Given the description of an element on the screen output the (x, y) to click on. 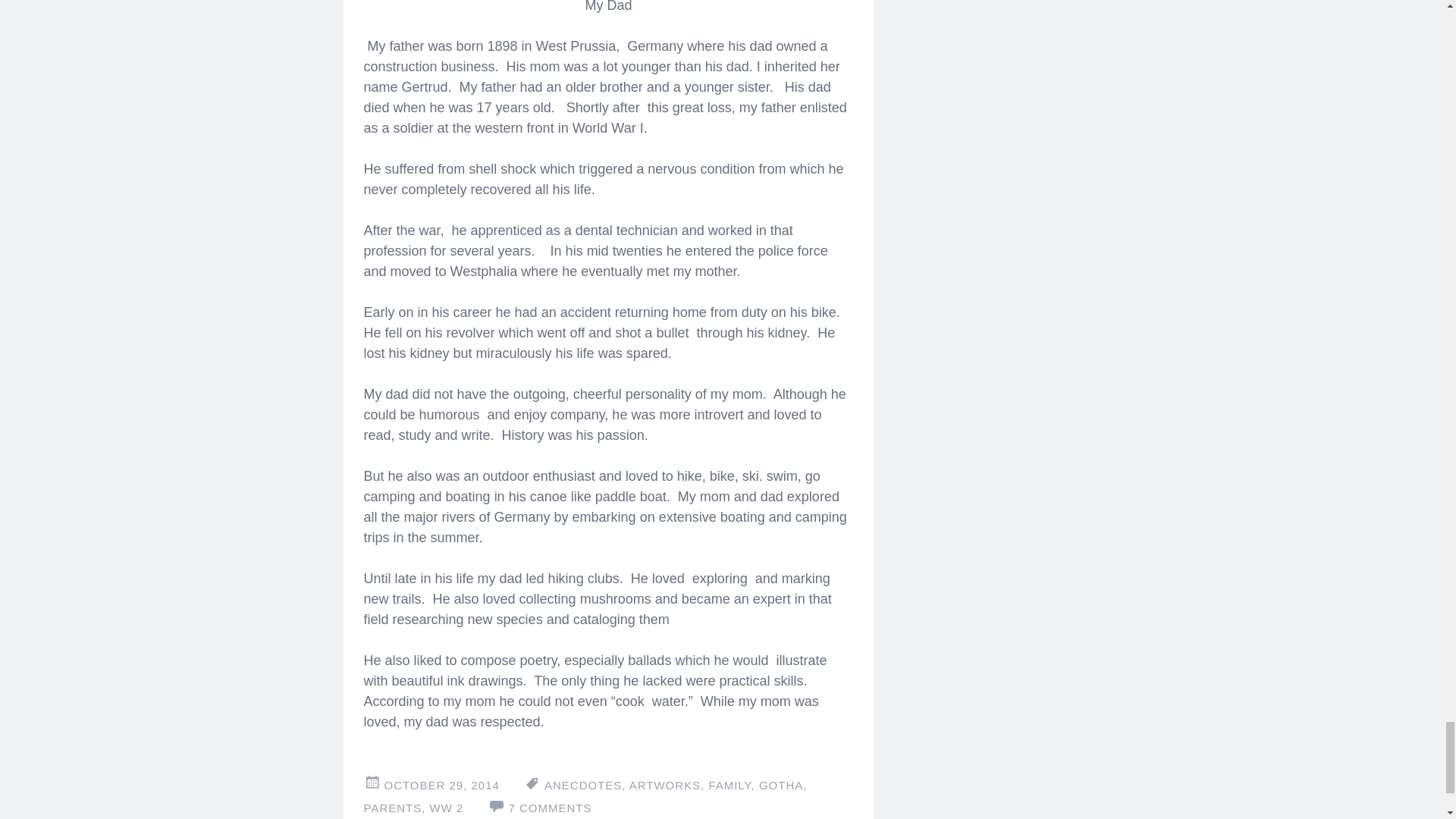
FAMILY (729, 784)
4:11 pm (441, 784)
PARENTS (393, 807)
WW 2 (446, 807)
ARTWORKS (664, 784)
OCTOBER 29, 2014 (441, 784)
GOTHA (780, 784)
ANECDOTES (582, 784)
7 COMMENTS (549, 807)
